Given the description of an element on the screen output the (x, y) to click on. 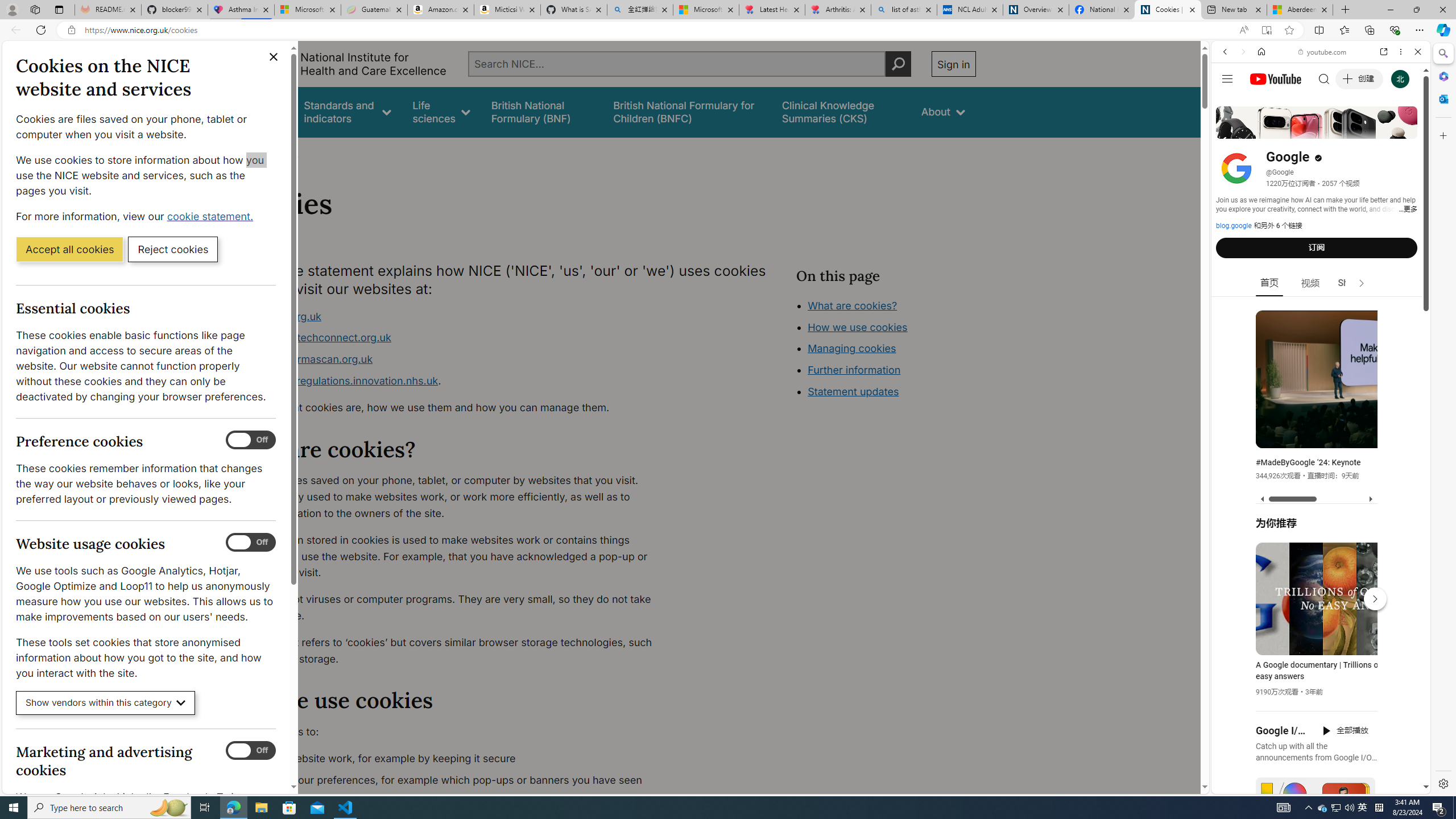
Show More Music (1390, 310)
Managing cookies (852, 348)
Further information (854, 369)
www.nice.org.uk (452, 316)
www.healthtechconnect.org.uk (452, 338)
www.digitalregulations.innovation.nhs.uk. (452, 380)
Click to scroll right (1407, 456)
